Given the description of an element on the screen output the (x, y) to click on. 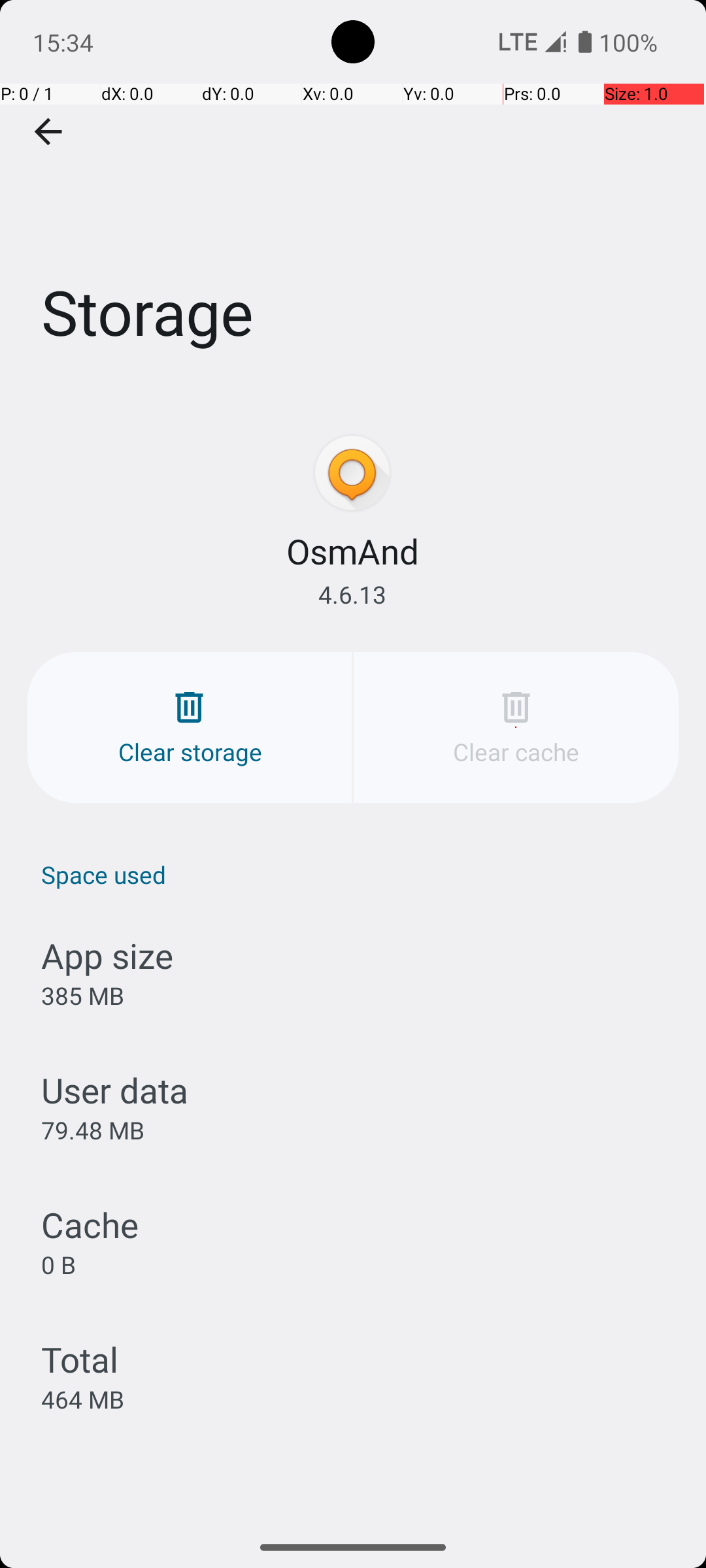
4.6.13 Element type: android.widget.TextView (352, 593)
Clear storage Element type: android.widget.Button (189, 727)
385 MB Element type: android.widget.TextView (82, 995)
79.48 MB Element type: android.widget.TextView (92, 1129)
464 MB Element type: android.widget.TextView (82, 1398)
